Given the description of an element on the screen output the (x, y) to click on. 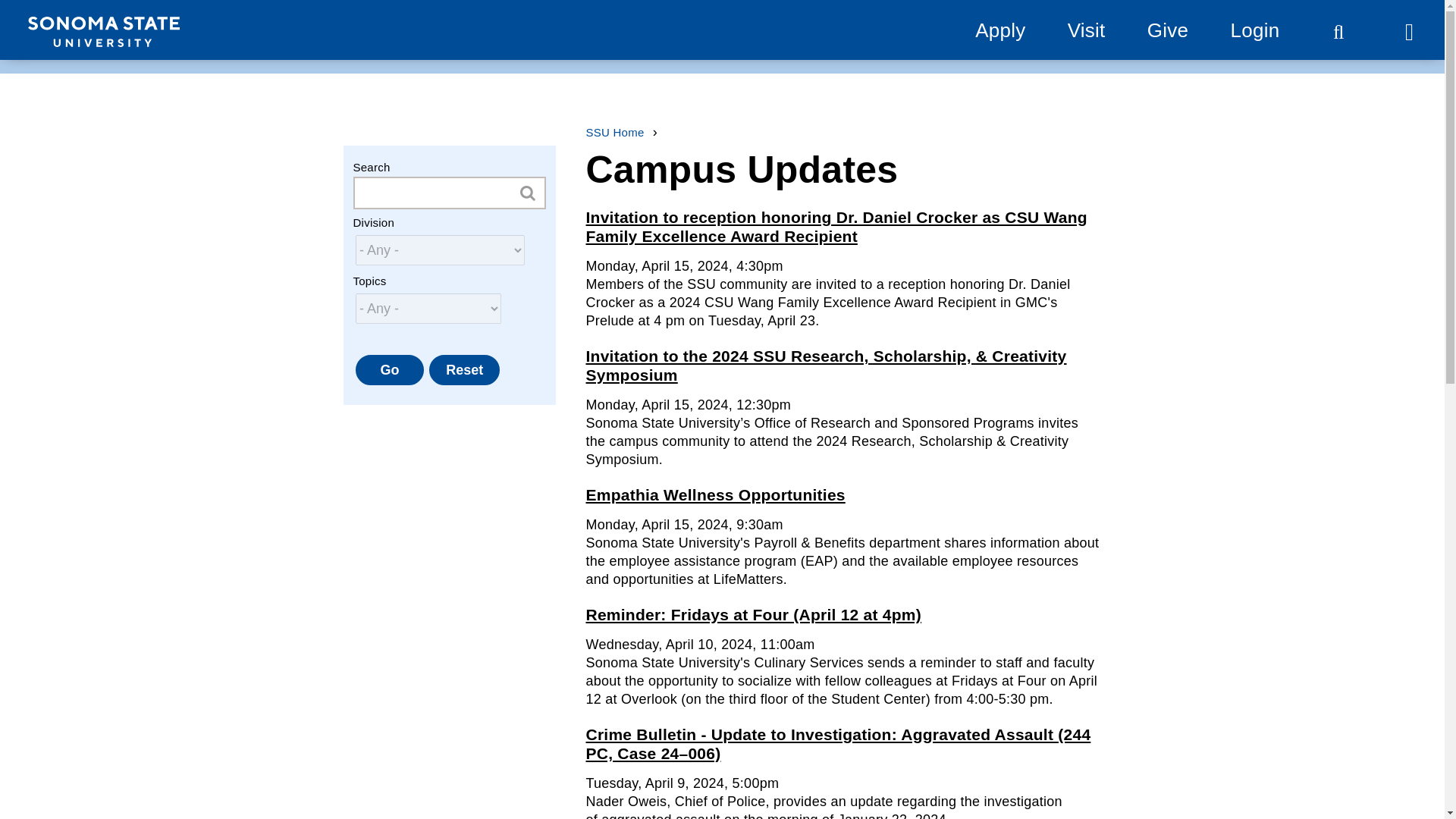
Jump to content (69, 19)
Reset (464, 369)
Visit (1086, 30)
Give (1167, 30)
Go (389, 369)
Login (1254, 30)
Apply (1000, 30)
